Given the description of an element on the screen output the (x, y) to click on. 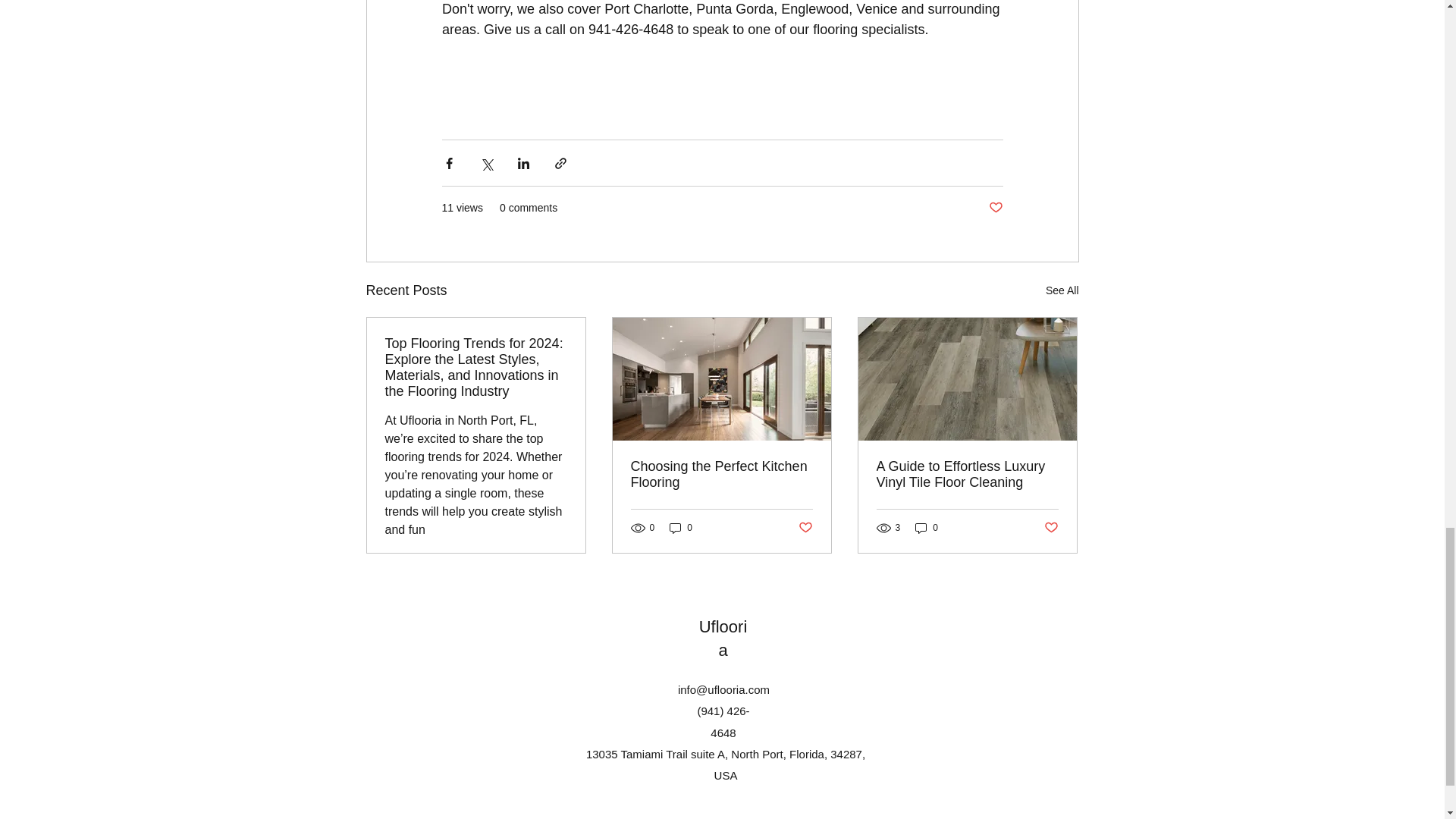
Choosing the Perfect Kitchen Flooring (721, 474)
Post not marked as liked (1050, 528)
0 (681, 527)
A Guide to Effortless Luxury Vinyl Tile Floor Cleaning (967, 474)
Post not marked as liked (804, 528)
Post not marked as liked (995, 207)
0 (926, 527)
Uflooria (723, 638)
See All (1061, 291)
